Given the description of an element on the screen output the (x, y) to click on. 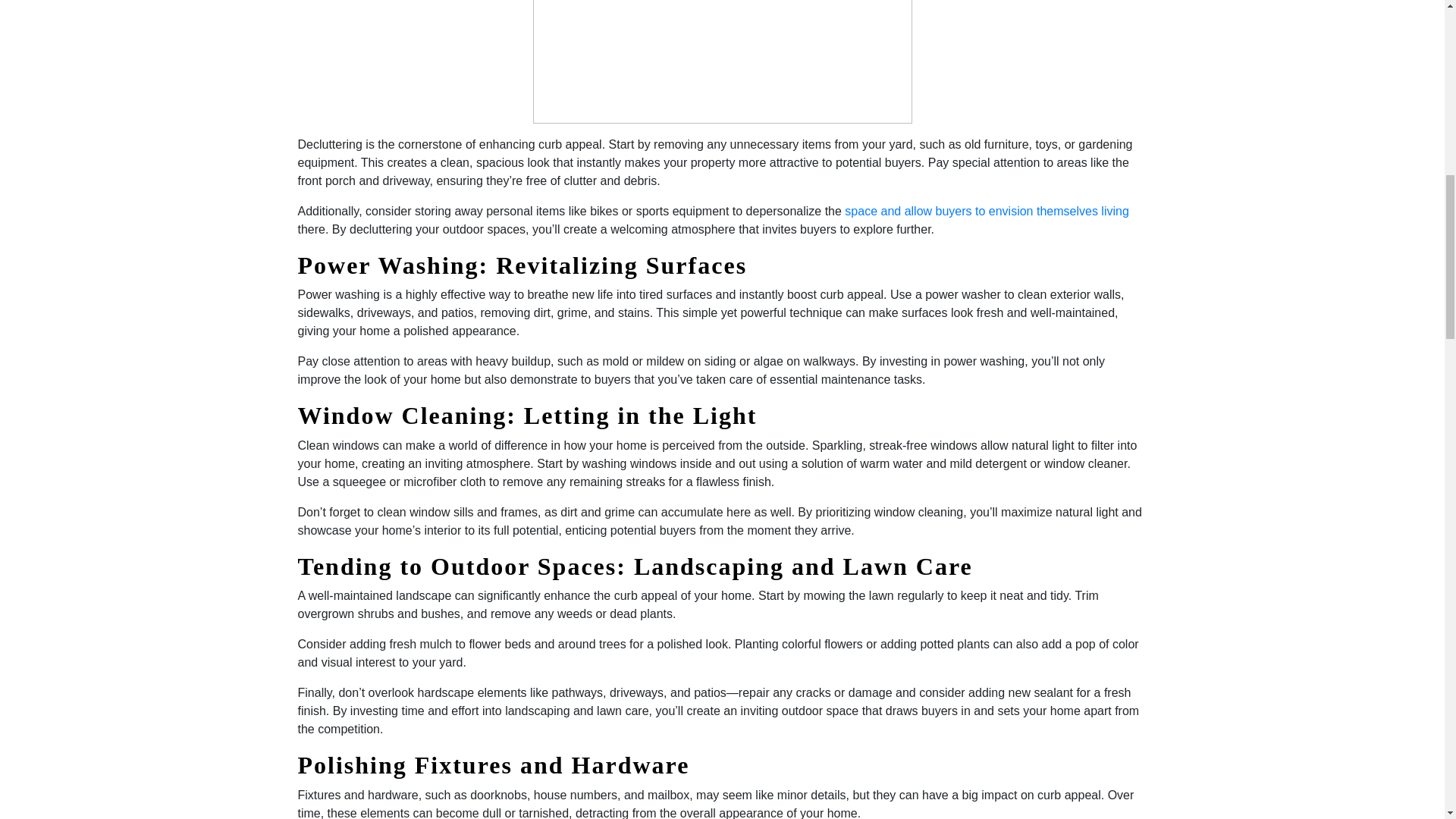
space and allow buyers to envision themselves living (986, 210)
